Given the description of an element on the screen output the (x, y) to click on. 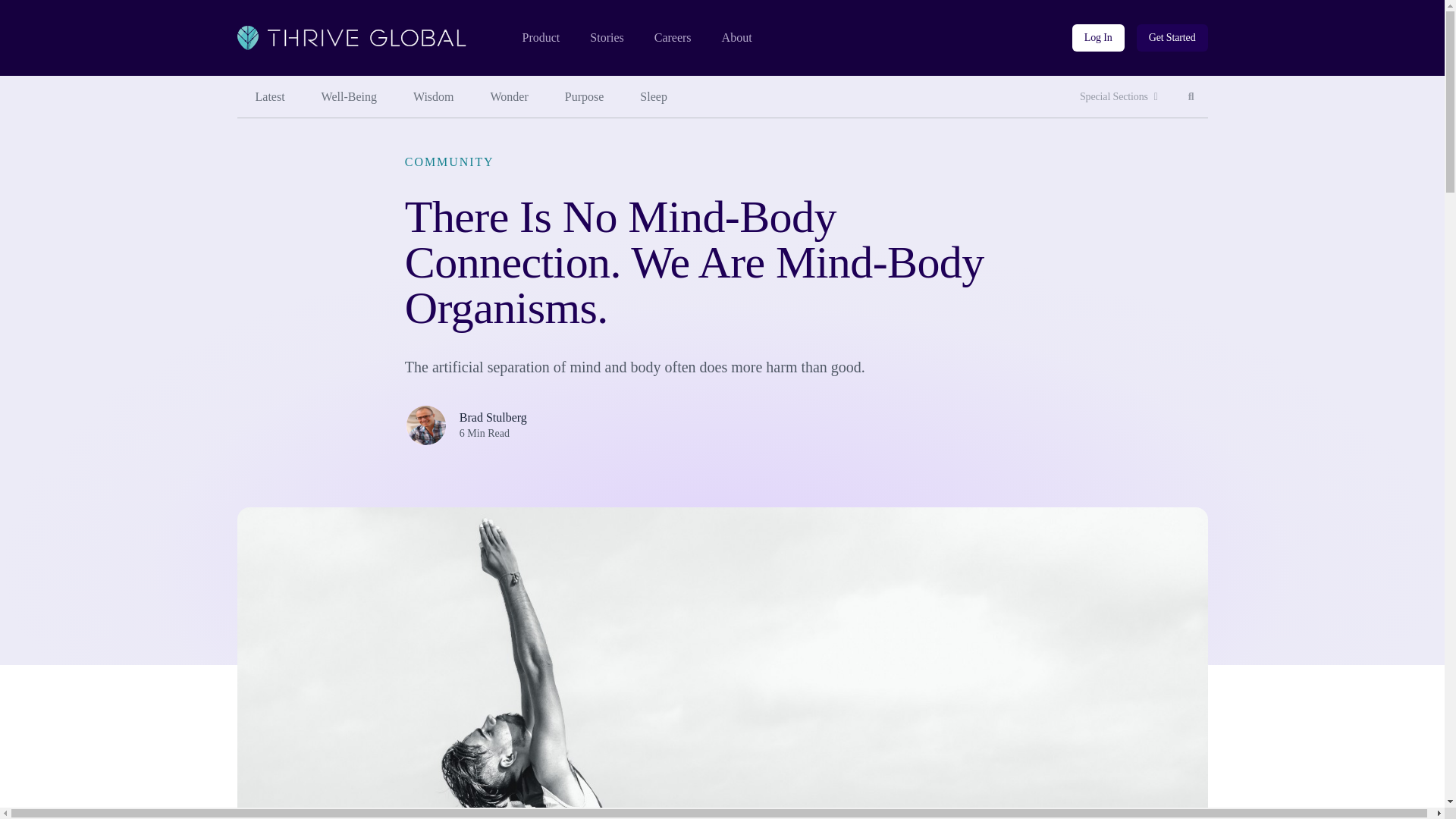
Stories (606, 37)
Purpose (585, 96)
Special Sections (1118, 97)
Get Started (1172, 37)
Product (540, 37)
Log In (1097, 37)
Wonder (1191, 97)
Careers (509, 96)
Latest (672, 37)
